Given the description of an element on the screen output the (x, y) to click on. 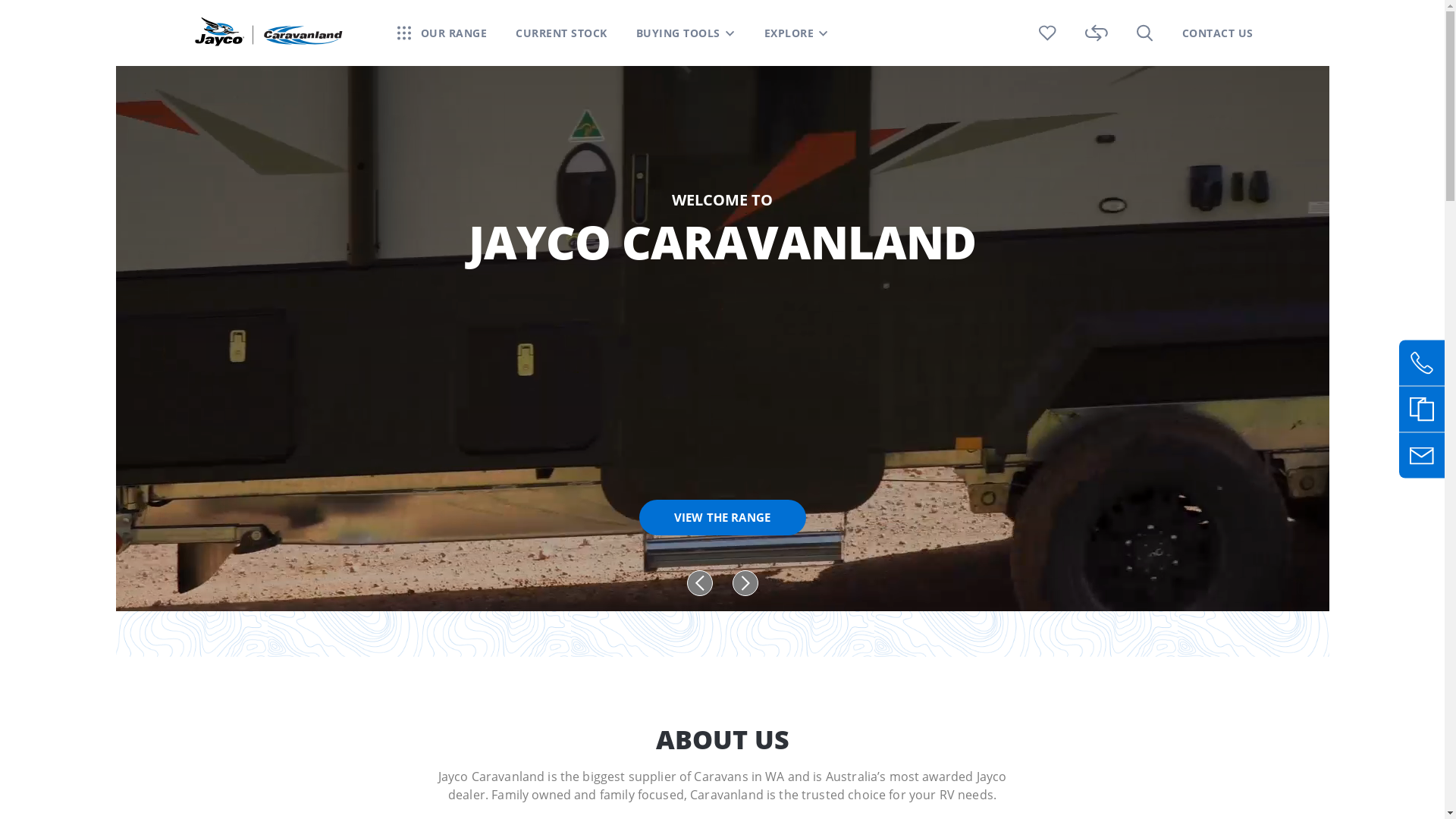
OUR RANGE Element type: text (442, 32)
EXPLORE Element type: text (796, 32)
CONTACT US Element type: text (1216, 32)
CURRENT STOCK Element type: text (561, 32)
CONTACT US Element type: text (1216, 32)
CURRENT STOCK Element type: text (561, 32)
BUYING TOOLS Element type: text (677, 32)
EXPLORE Element type: text (789, 32)
OUR RANGE Element type: text (453, 32)
BUYING TOOLS Element type: text (684, 32)
